Given the description of an element on the screen output the (x, y) to click on. 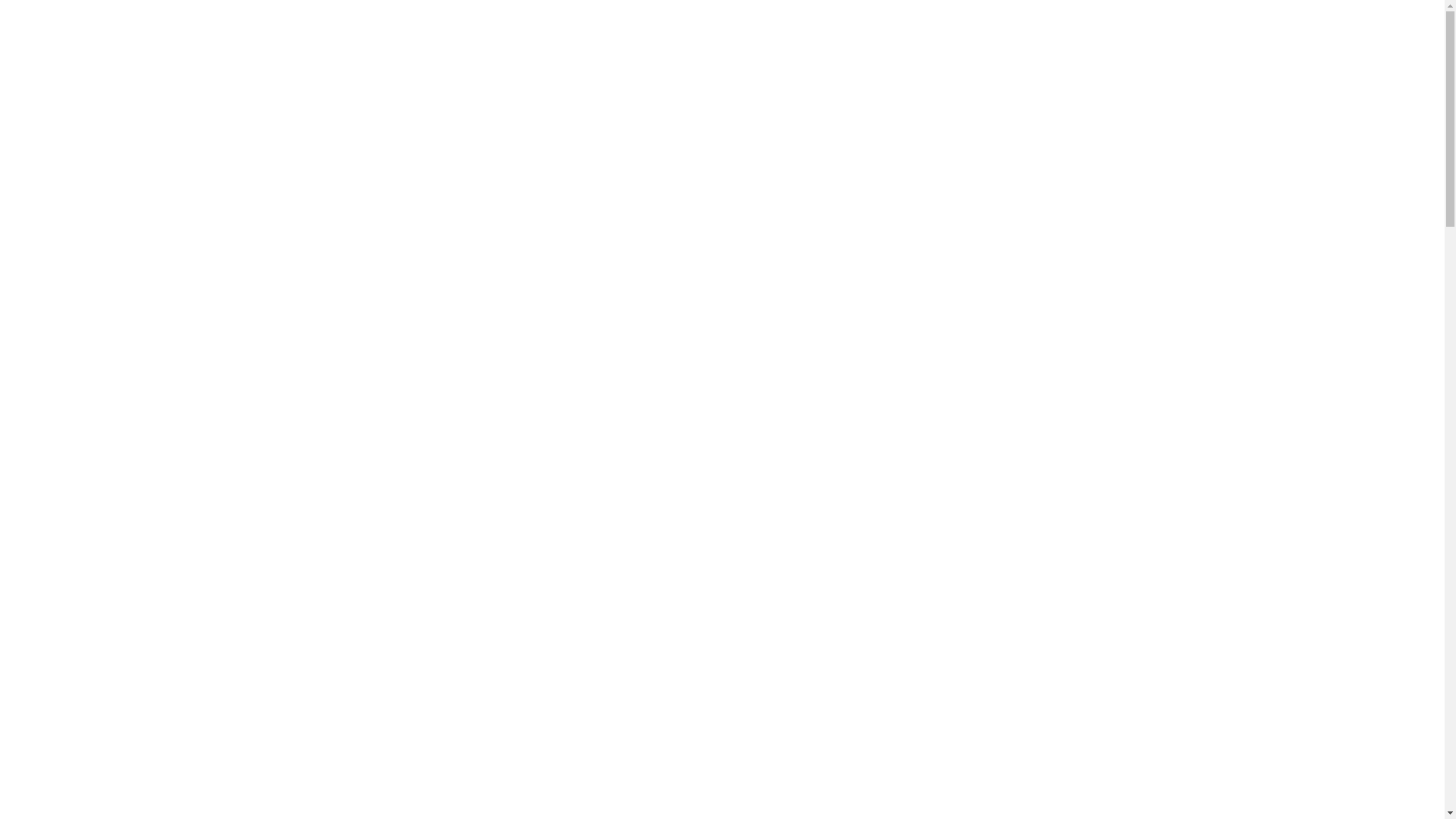
Online Element type: text (120, 155)
Info Element type: text (578, 155)
